Given the description of an element on the screen output the (x, y) to click on. 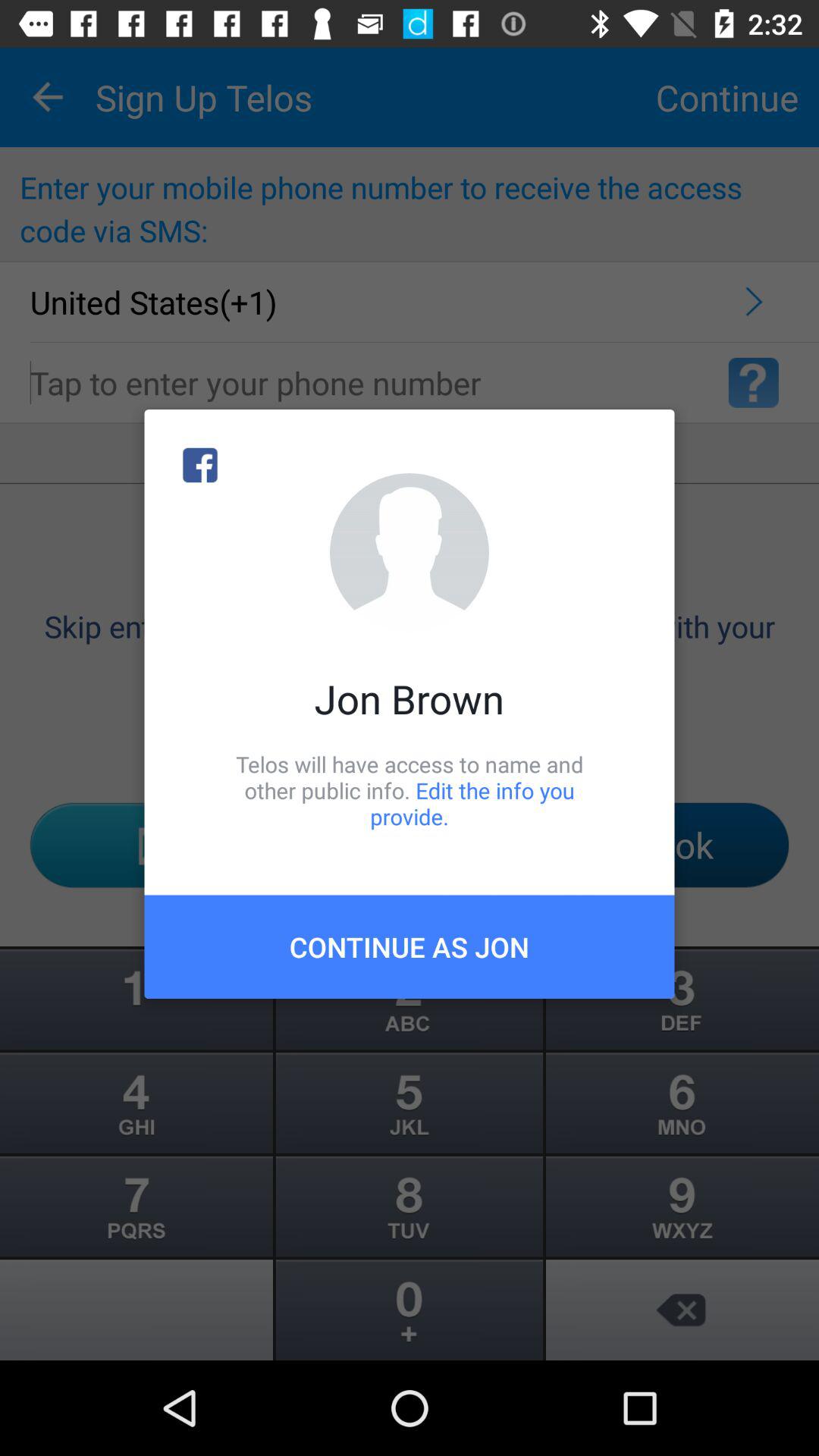
open the item below telos will have (409, 946)
